Given the description of an element on the screen output the (x, y) to click on. 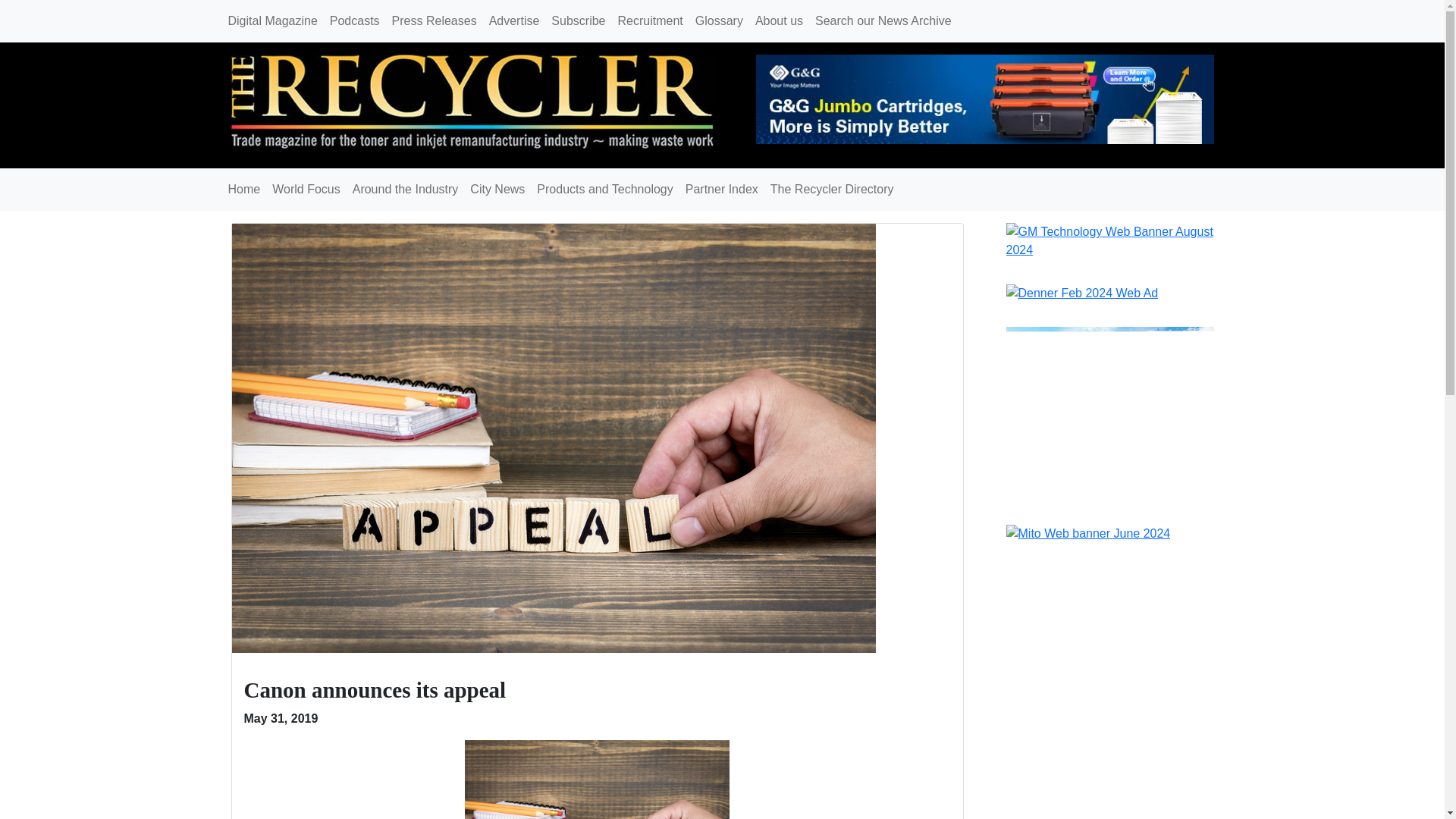
Recruitment (649, 20)
Home (243, 189)
Around the Industry (405, 189)
Digital Magazine (272, 20)
Canon announces its appeal (375, 689)
About us (779, 20)
Glossary (718, 20)
Products and Technology (604, 189)
The Recycler Directory (831, 189)
Canon announces its appeal (553, 436)
